Given the description of an element on the screen output the (x, y) to click on. 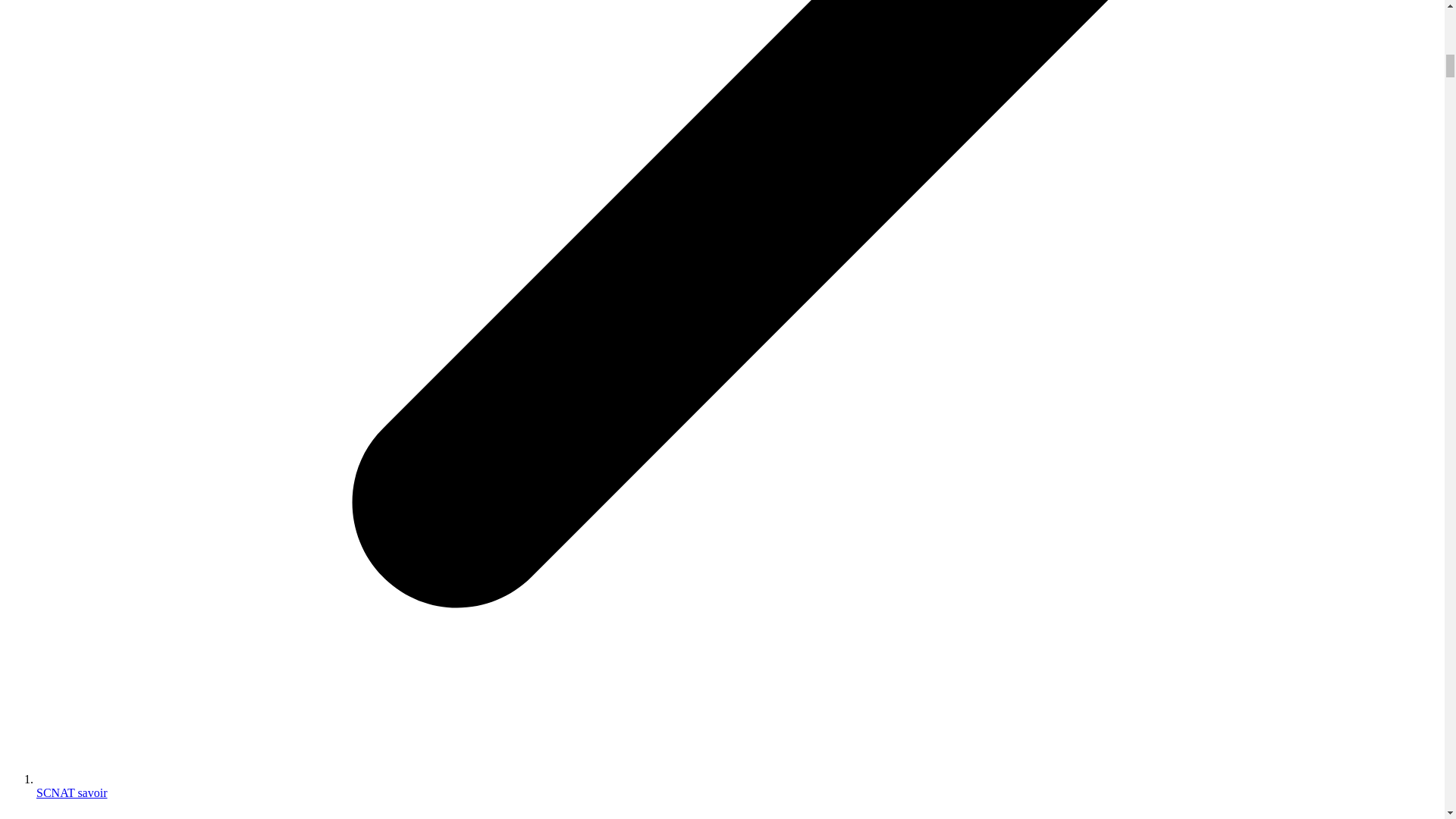
SCNAT savoir (71, 792)
